Given the description of an element on the screen output the (x, y) to click on. 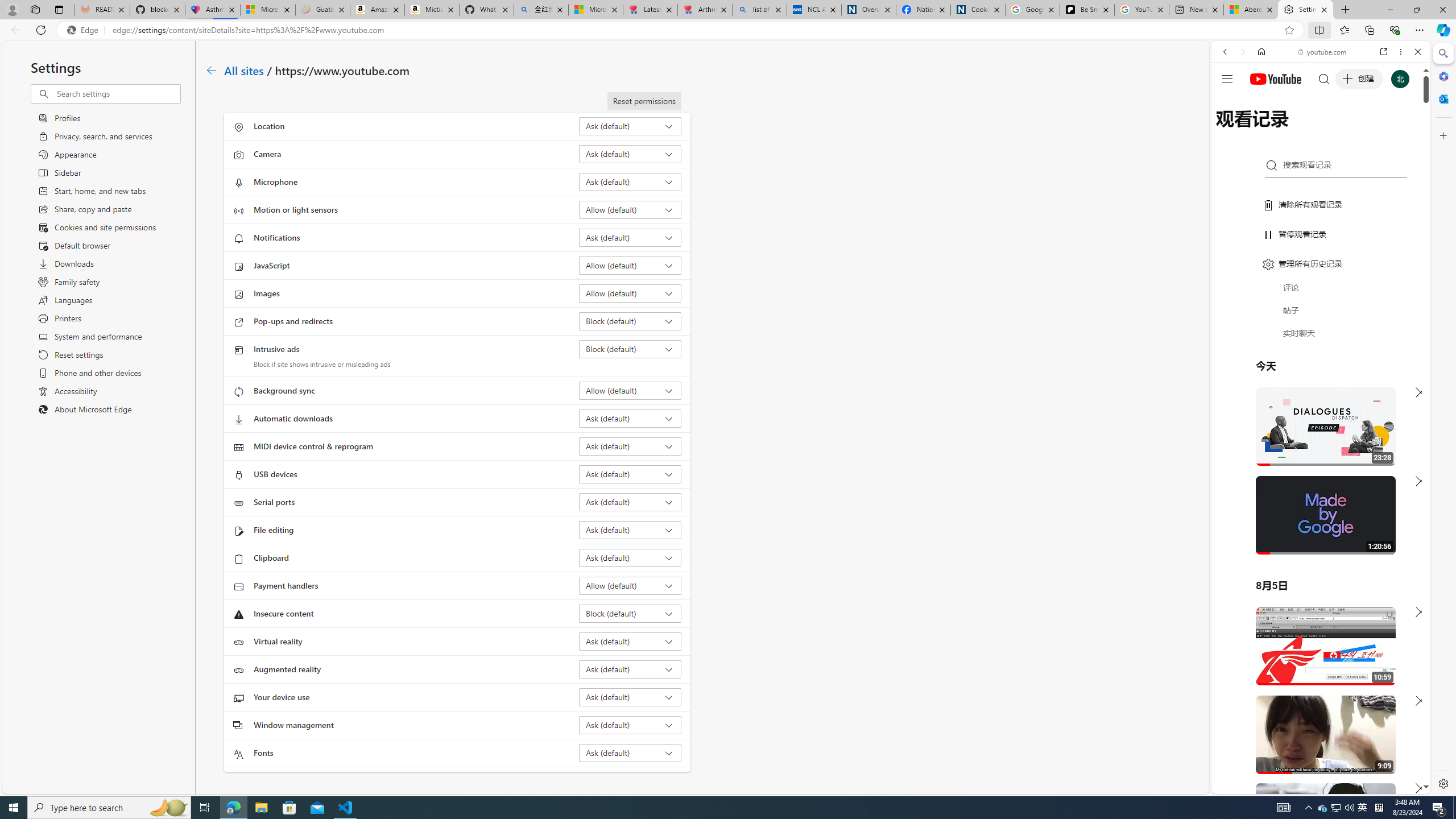
Open link in new tab (1383, 51)
YouTube (1315, 655)
Serial ports Ask (default) (630, 502)
Google (1320, 281)
Fonts Ask (default) (630, 752)
Preferences (1403, 129)
Motion or light sensors Allow (default) (630, 209)
Search videos from youtube.com (1299, 373)
NCL Adult Asthma Inhaler Choice Guideline (813, 9)
Edge (84, 29)
#you (1320, 253)
Window management Ask (default) (630, 724)
